Given the description of an element on the screen output the (x, y) to click on. 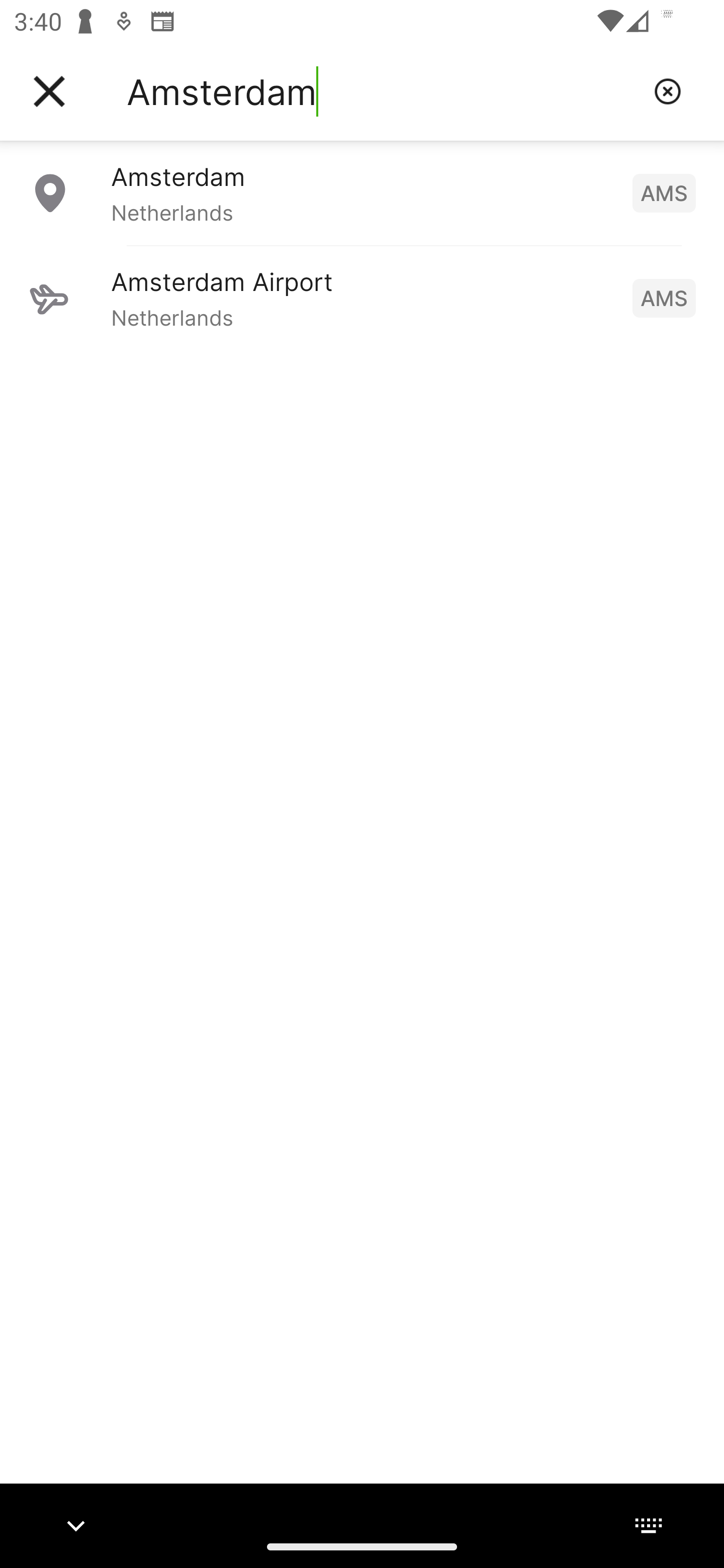
Amsterdam (382, 91)
Amsterdam Netherlands AMS (362, 192)
Amsterdam Airport Netherlands AMS (362, 297)
